Given the description of an element on the screen output the (x, y) to click on. 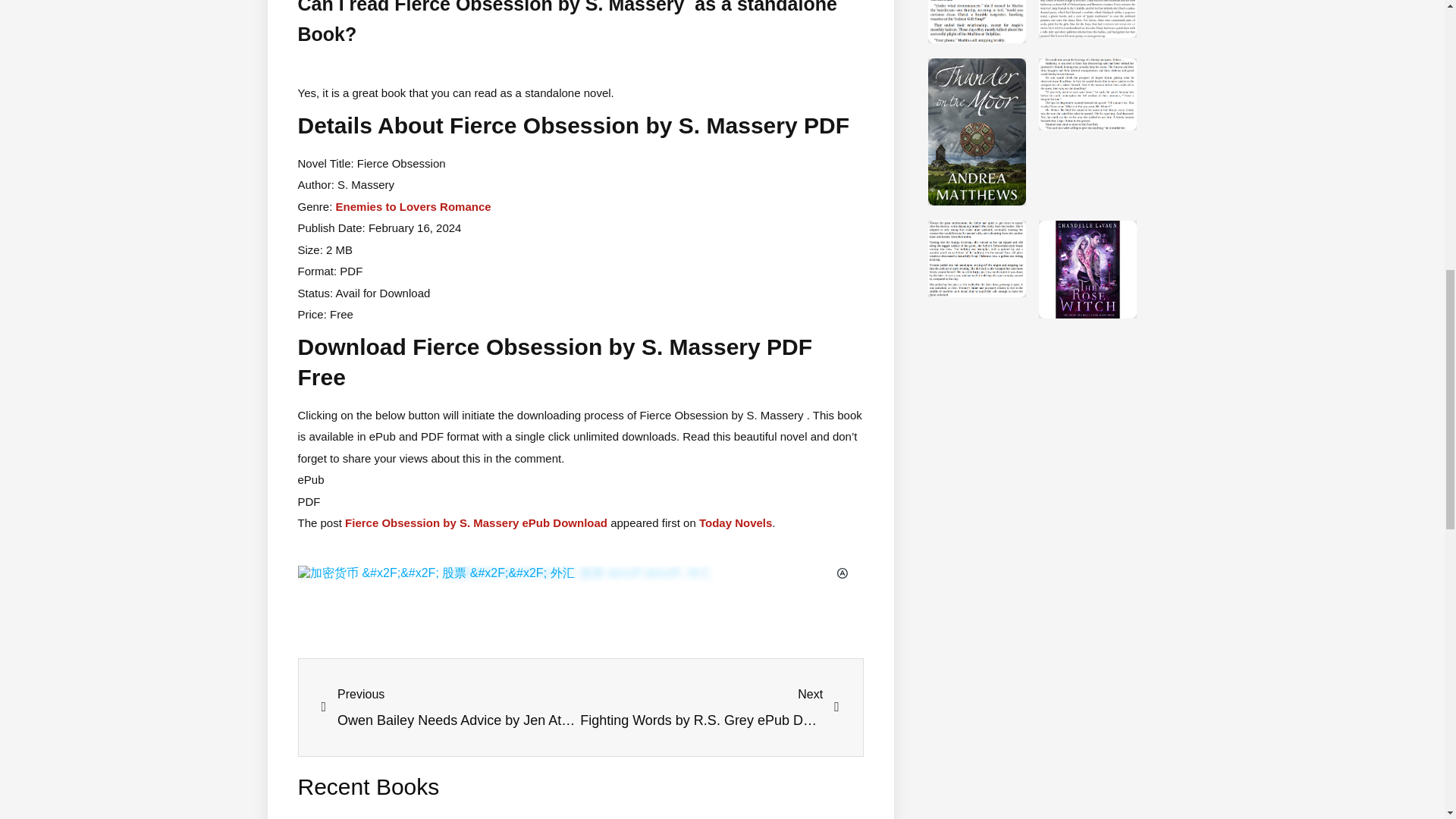
Fierce Obsession by S. Massery ePub Download (709, 707)
Today Novels (476, 522)
Enemies to Lovers Romance (734, 522)
